Given the description of an element on the screen output the (x, y) to click on. 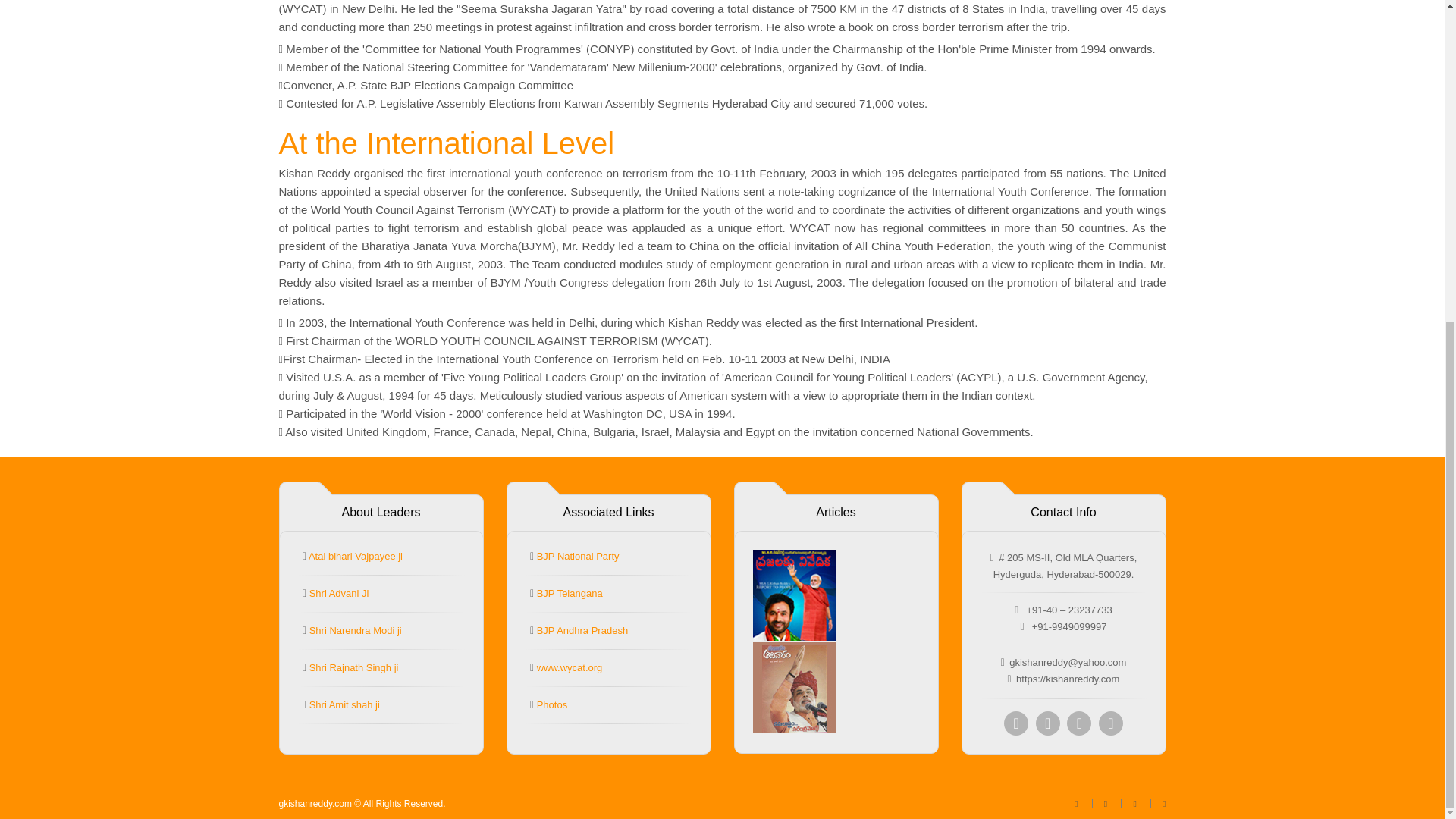
BJP Telangana (568, 593)
Shri Narendra Modi ji (353, 630)
blog (1163, 803)
Shri Rajnath Singh ji (351, 667)
Facebook (1015, 723)
Shri Amit shah ji (342, 704)
Twitter (1047, 723)
Shri Advani Ji (336, 593)
BJP National Party (576, 555)
Photos (550, 704)
instagram (1078, 723)
Atal bihari Vajpayee ji (354, 555)
